Given the description of an element on the screen output the (x, y) to click on. 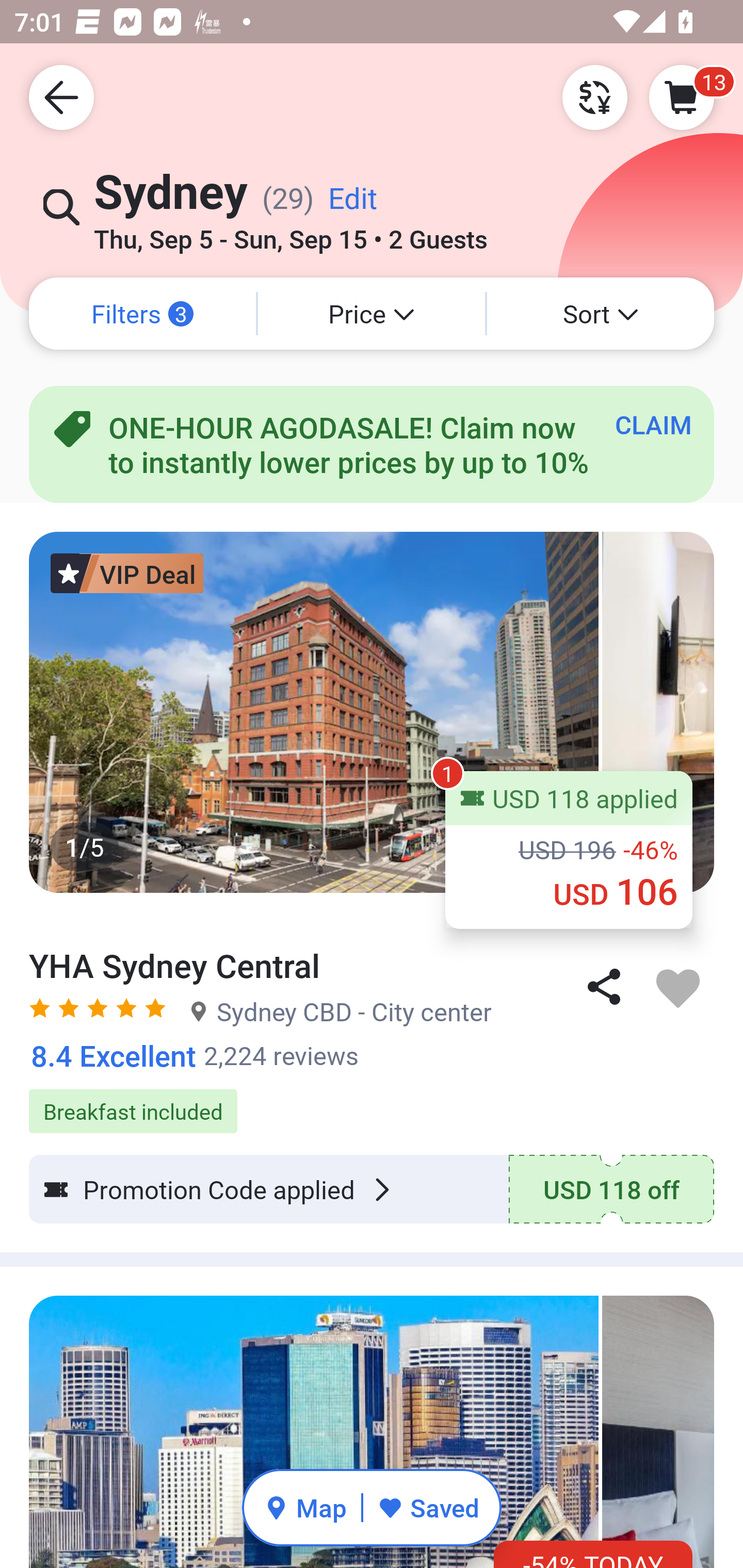
Filters 3 (141, 313)
Price (371, 313)
Sort (600, 313)
CLAIM (653, 424)
VIP Deal (126, 572)
1/5 (371, 711)
USD 118 applied ‪USD 196 -46% ‪USD 106 1 (568, 849)
Breakfast included (371, 1100)
Promotion Code applied USD 118 off (371, 1189)
Map (305, 1507)
Saved (428, 1507)
